Given the description of an element on the screen output the (x, y) to click on. 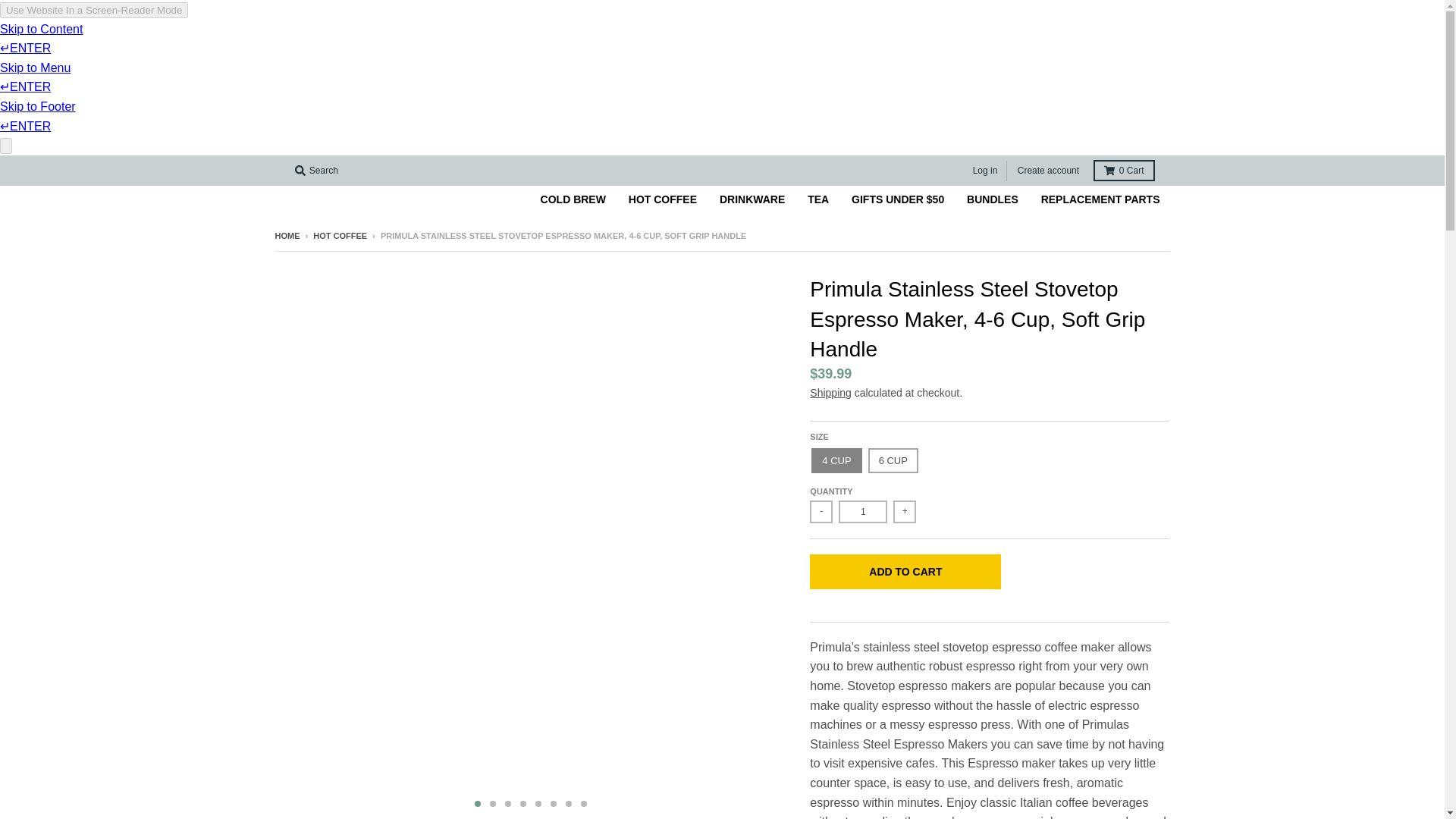
HOME (287, 235)
Create account (1048, 170)
Search (315, 169)
Log in (985, 170)
DRINKWARE (752, 198)
REPLACEMENT PARTS (1100, 198)
4 Cup (835, 460)
BUNDLES (991, 198)
1 (862, 511)
